Given the description of an element on the screen output the (x, y) to click on. 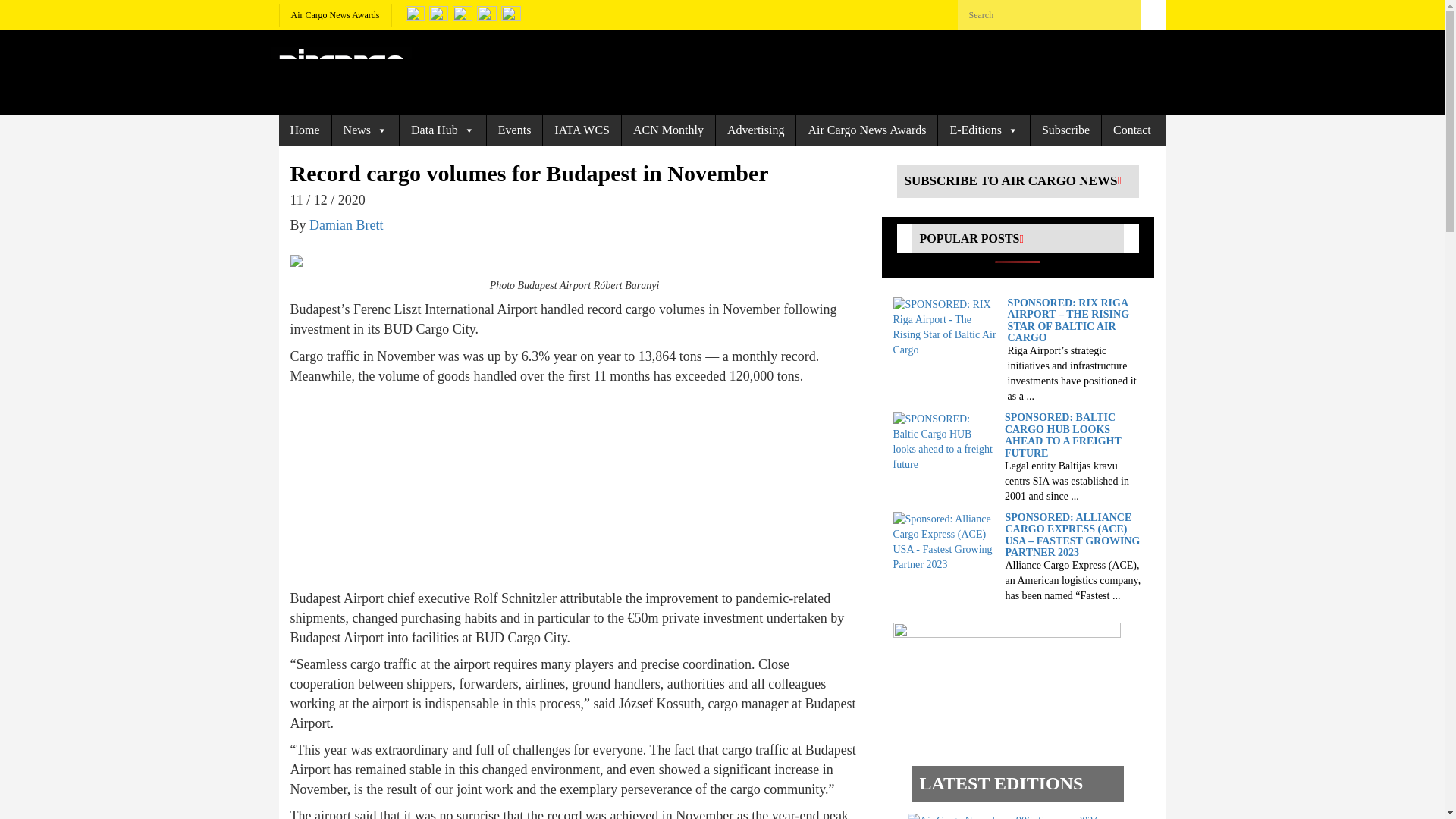
News (364, 130)
Air Cargo News Issue 906 -Summer 2024 (1002, 816)
SPONSORED: Baltic Cargo HUB looks ahead to a freight future (945, 441)
Air Cargo News Awards (335, 14)
Home (305, 130)
